Given the description of an element on the screen output the (x, y) to click on. 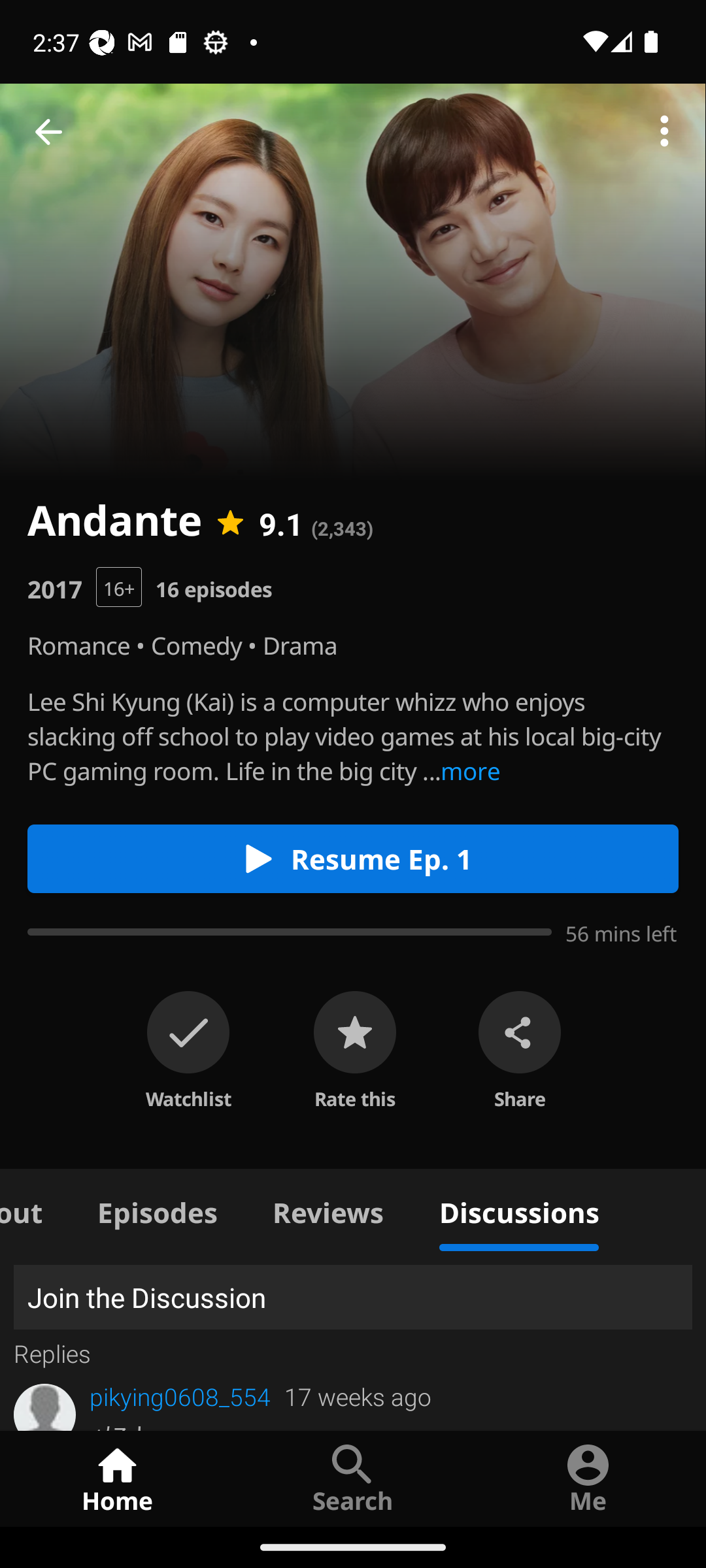
More (664, 131)
on (187, 1032)
Episodes (156, 1209)
Reviews (327, 1209)
Join the Discussion (352, 1297)
pikying0608_554 (179, 1396)
Search (352, 1478)
Me (588, 1478)
